Given the description of an element on the screen output the (x, y) to click on. 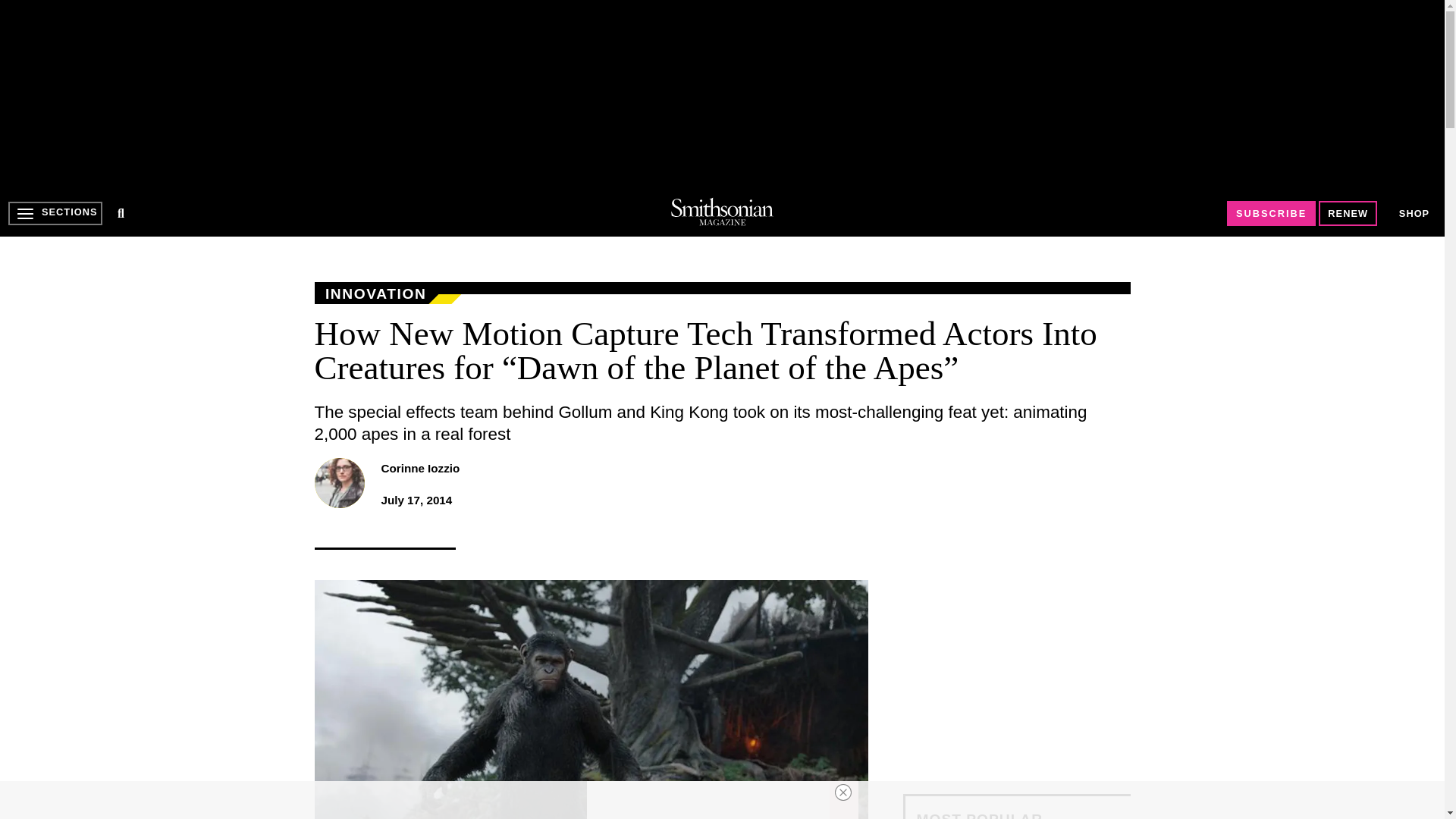
3rd party ad content (1015, 674)
SHOP (1414, 213)
RENEW (1348, 213)
3rd party ad content (707, 800)
SUBSCRIBE (1271, 213)
SECTIONS (55, 213)
SUBSCRIBE (1271, 212)
RENEW (1347, 212)
3rd party ad content (721, 94)
SHOP (1413, 212)
